Given the description of an element on the screen output the (x, y) to click on. 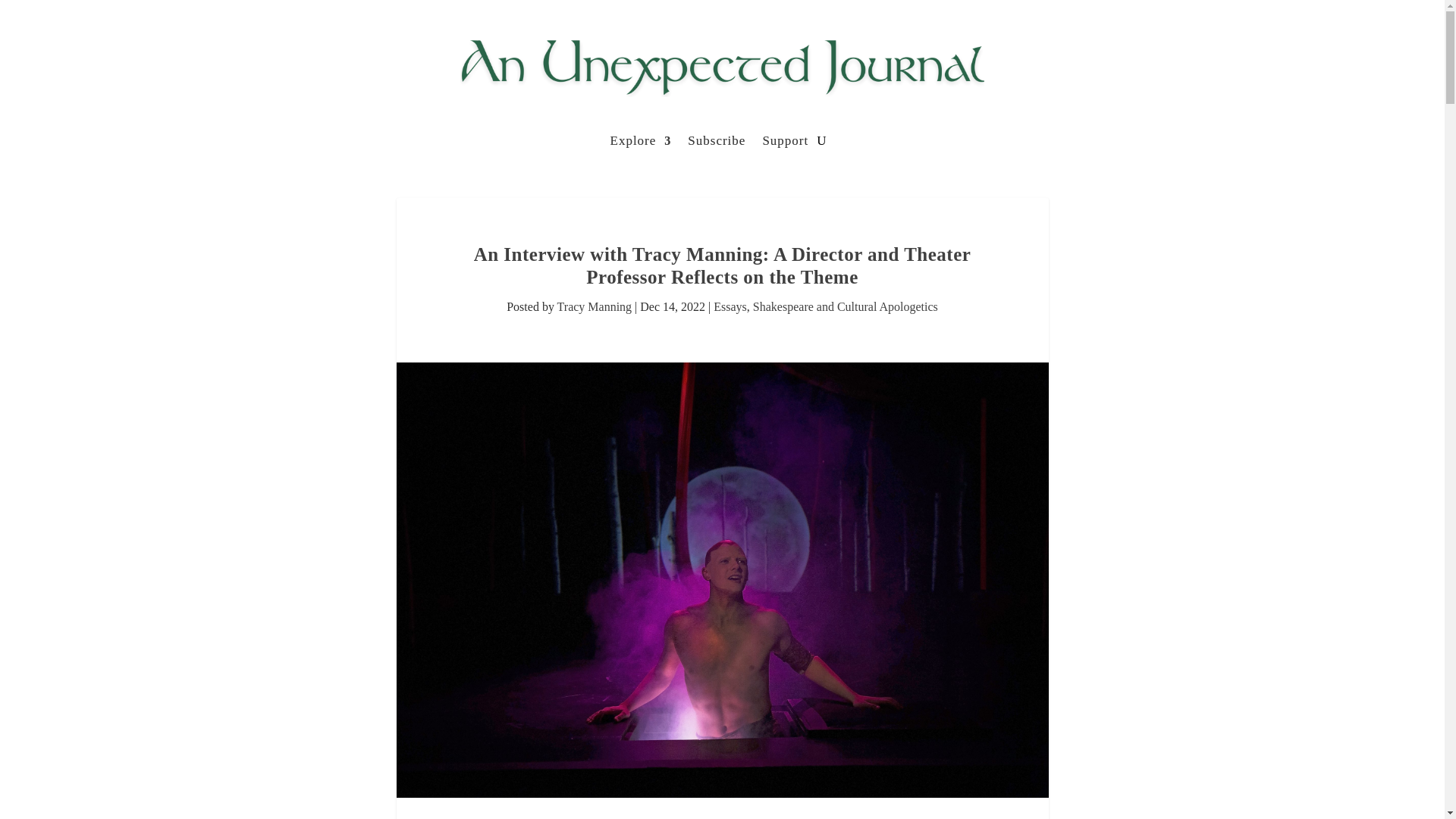
Explore (640, 143)
Shakespeare and Cultural Apologetics (844, 306)
Essays (729, 306)
Tracy Manning (594, 306)
Support (784, 143)
Posts by Tracy Manning (594, 306)
Subscribe (716, 143)
